Given the description of an element on the screen output the (x, y) to click on. 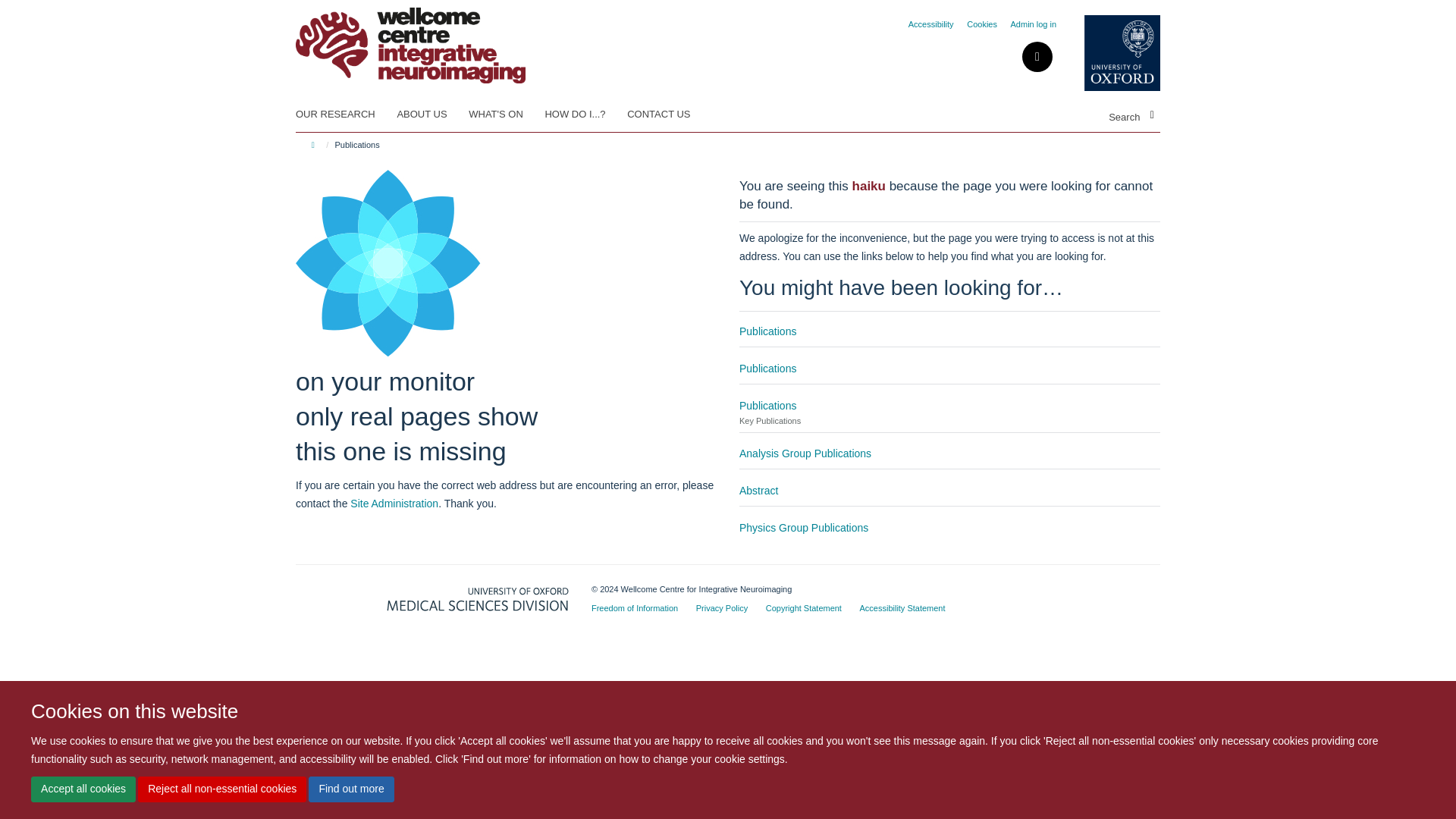
Wellcome Centre for Integrative Neuroimaging (410, 40)
HOW DO I...? (584, 114)
ABOUT US (430, 114)
CONTACT US (668, 114)
WHAT'S ON (504, 114)
Follow us on Twitter (1037, 57)
Publications (767, 331)
Admin log in (1033, 23)
University of Oxford (1110, 52)
